Given the description of an element on the screen output the (x, y) to click on. 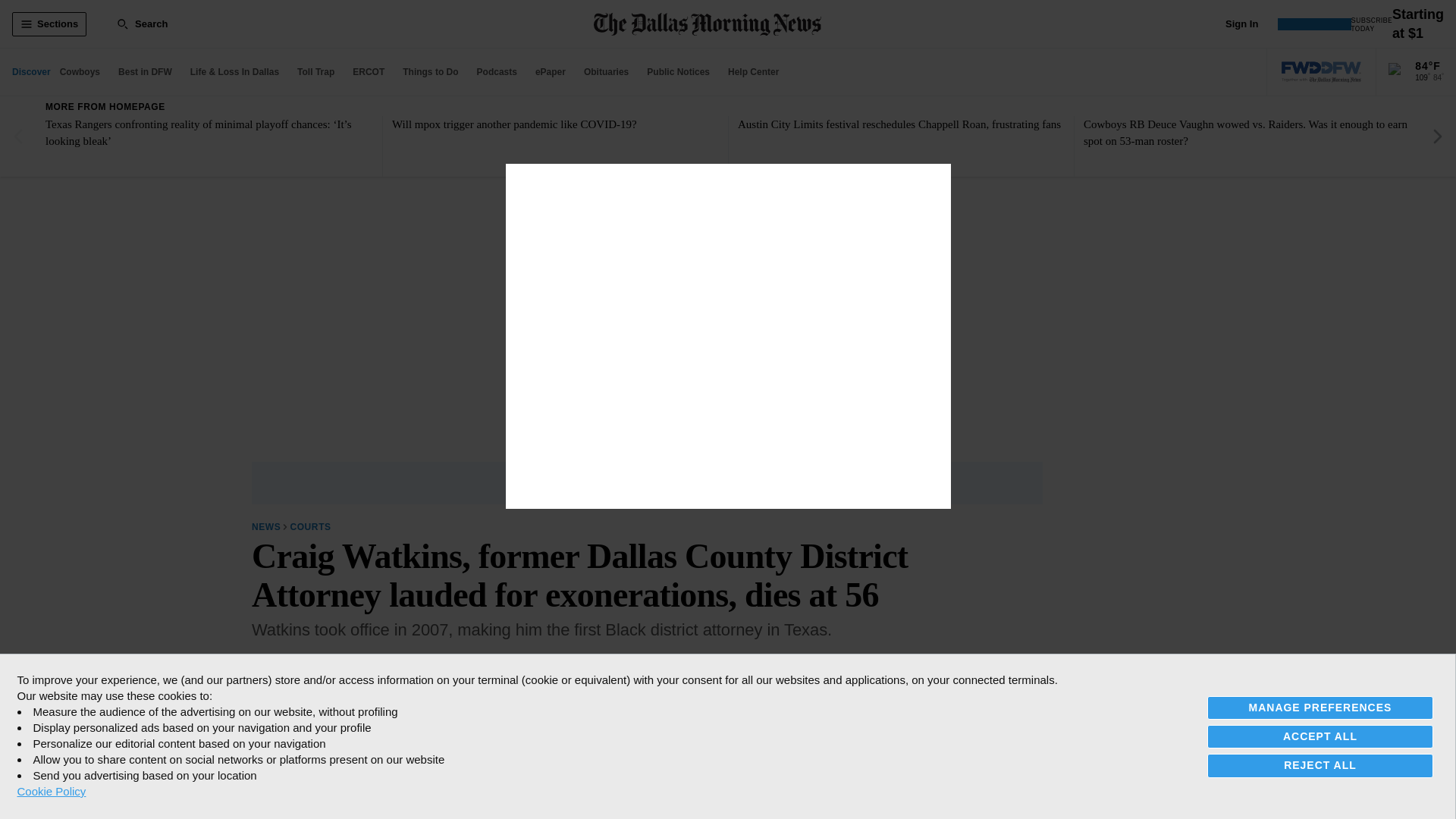
Broken clouds (1398, 72)
MANAGE PREFERENCES (1319, 707)
FWD DFW, Together with The Dallas Morning News (1320, 72)
ACCEPT ALL (1319, 736)
Cookie Policy (50, 790)
REJECT ALL (1319, 765)
